Given the description of an element on the screen output the (x, y) to click on. 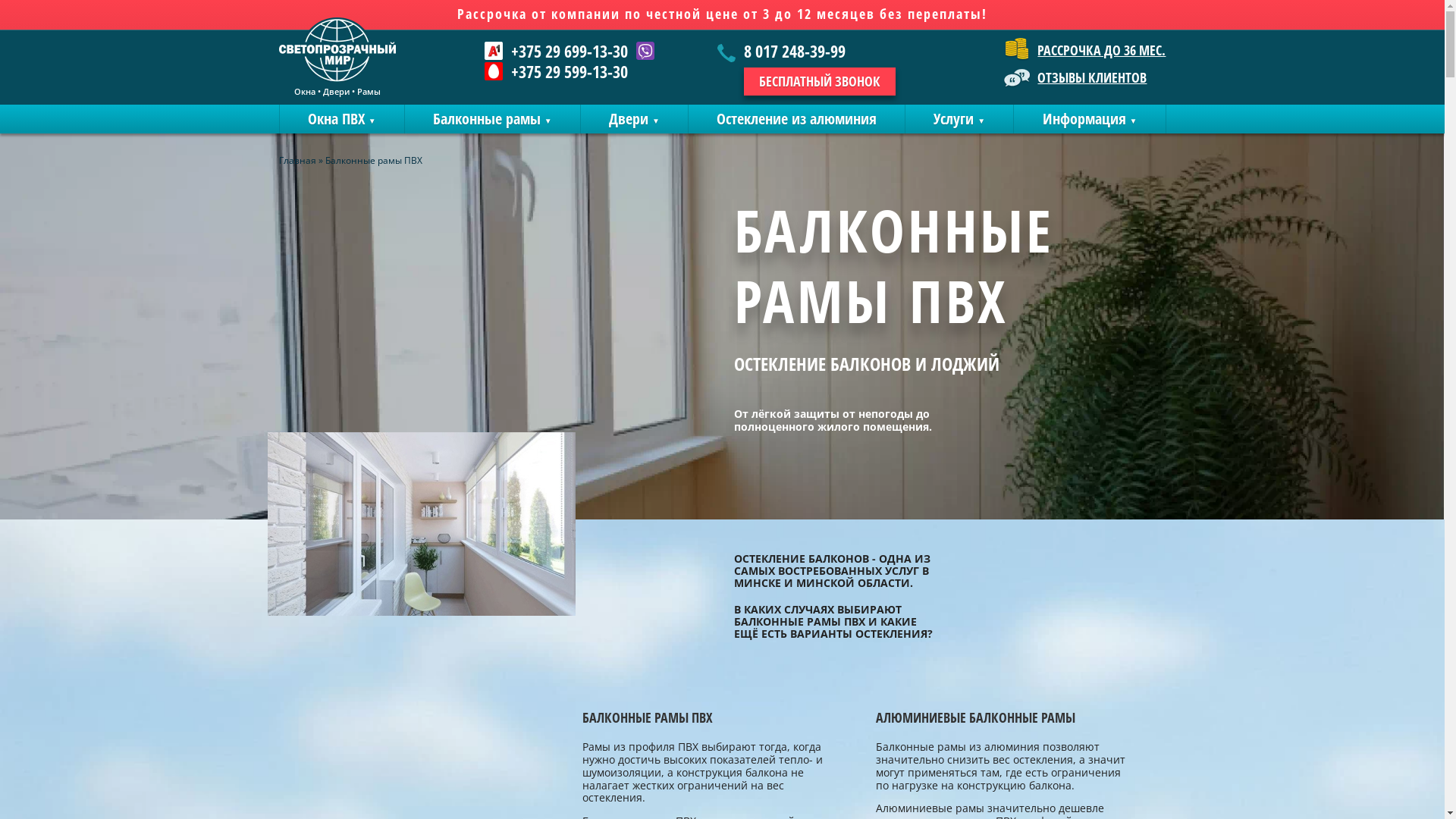
+375 29 699-13-30 Element type: text (569, 50)
+375 29 599-13-30 Element type: text (555, 71)
8 017 248-39-99 Element type: text (806, 52)
+375 29 699-13-30 Element type: text (555, 50)
+375 29 599-13-30 Element type: text (569, 70)
